Given the description of an element on the screen output the (x, y) to click on. 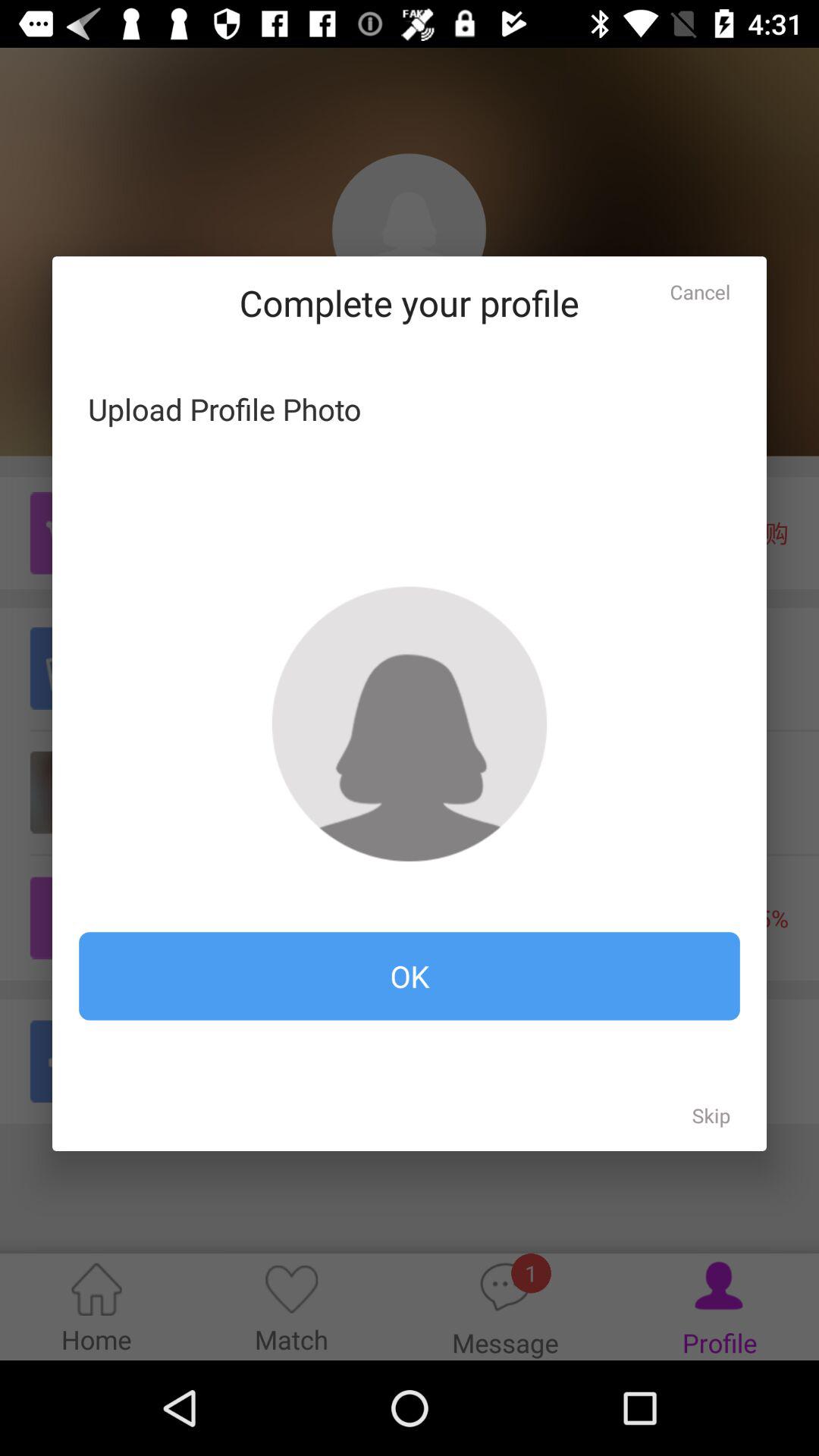
select item at the bottom right corner (711, 1115)
